Given the description of an element on the screen output the (x, y) to click on. 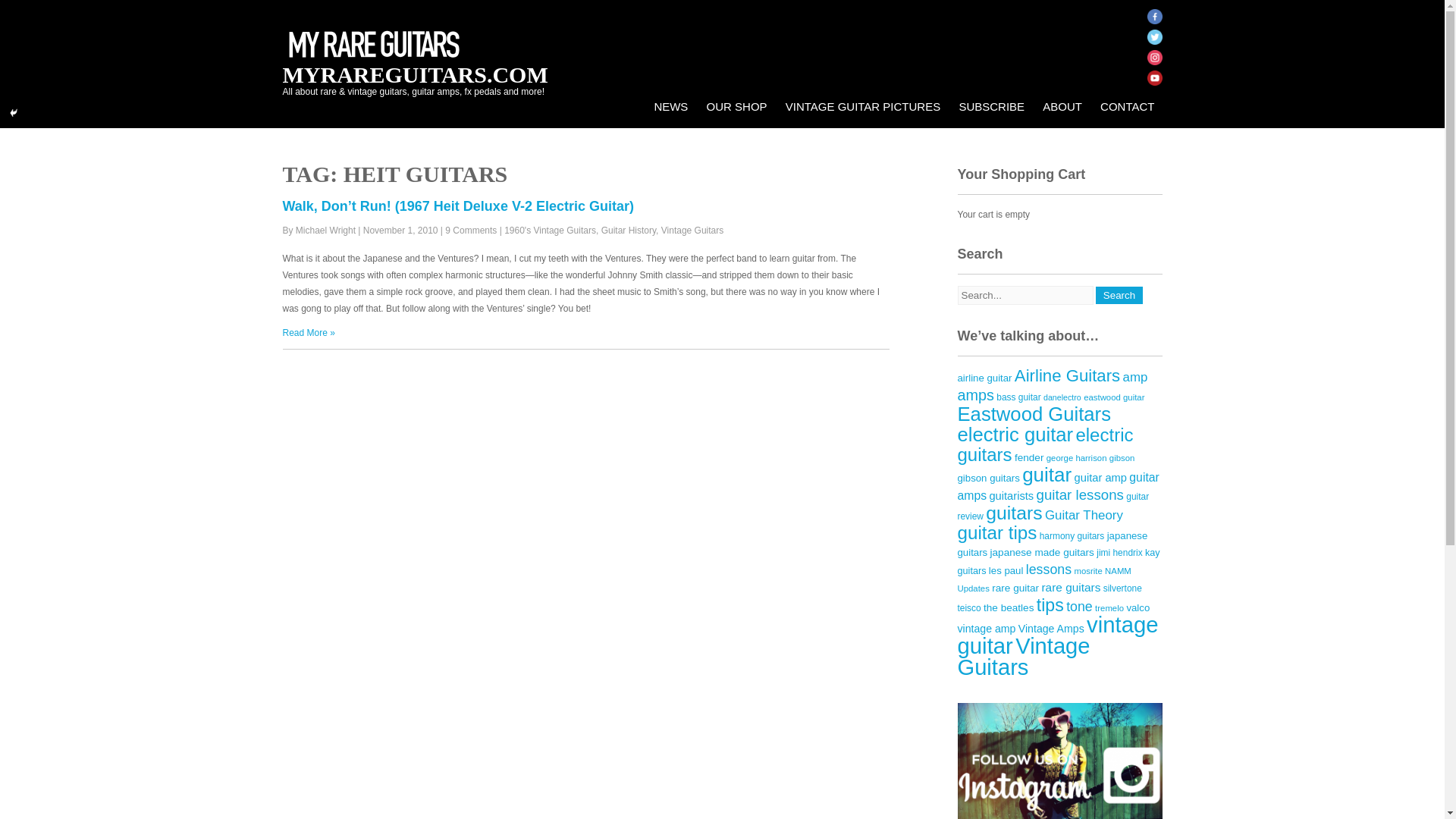
Search (1119, 294)
CONTACT (1127, 106)
OUR SHOP (736, 106)
VINTAGE GUITAR PICTURES (862, 106)
Vintage Guitars (692, 230)
Search (1119, 294)
ABOUT (1062, 106)
Hide (13, 112)
MYRAREGUITARS.COM (414, 74)
9 Comments (470, 230)
